Given the description of an element on the screen output the (x, y) to click on. 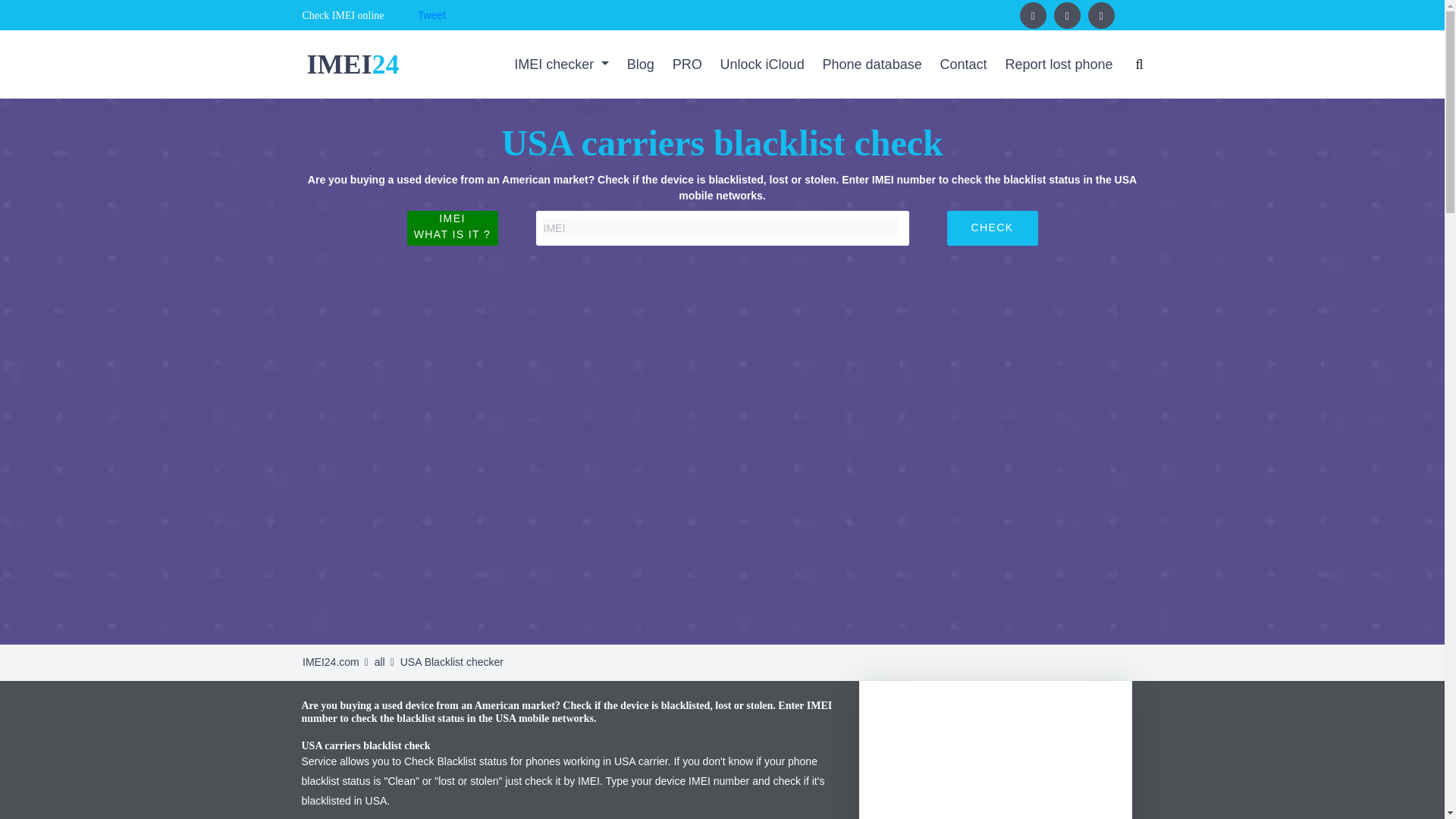
Tweet (431, 15)
IMEI24 (349, 63)
IMEI checker (560, 63)
